Given the description of an element on the screen output the (x, y) to click on. 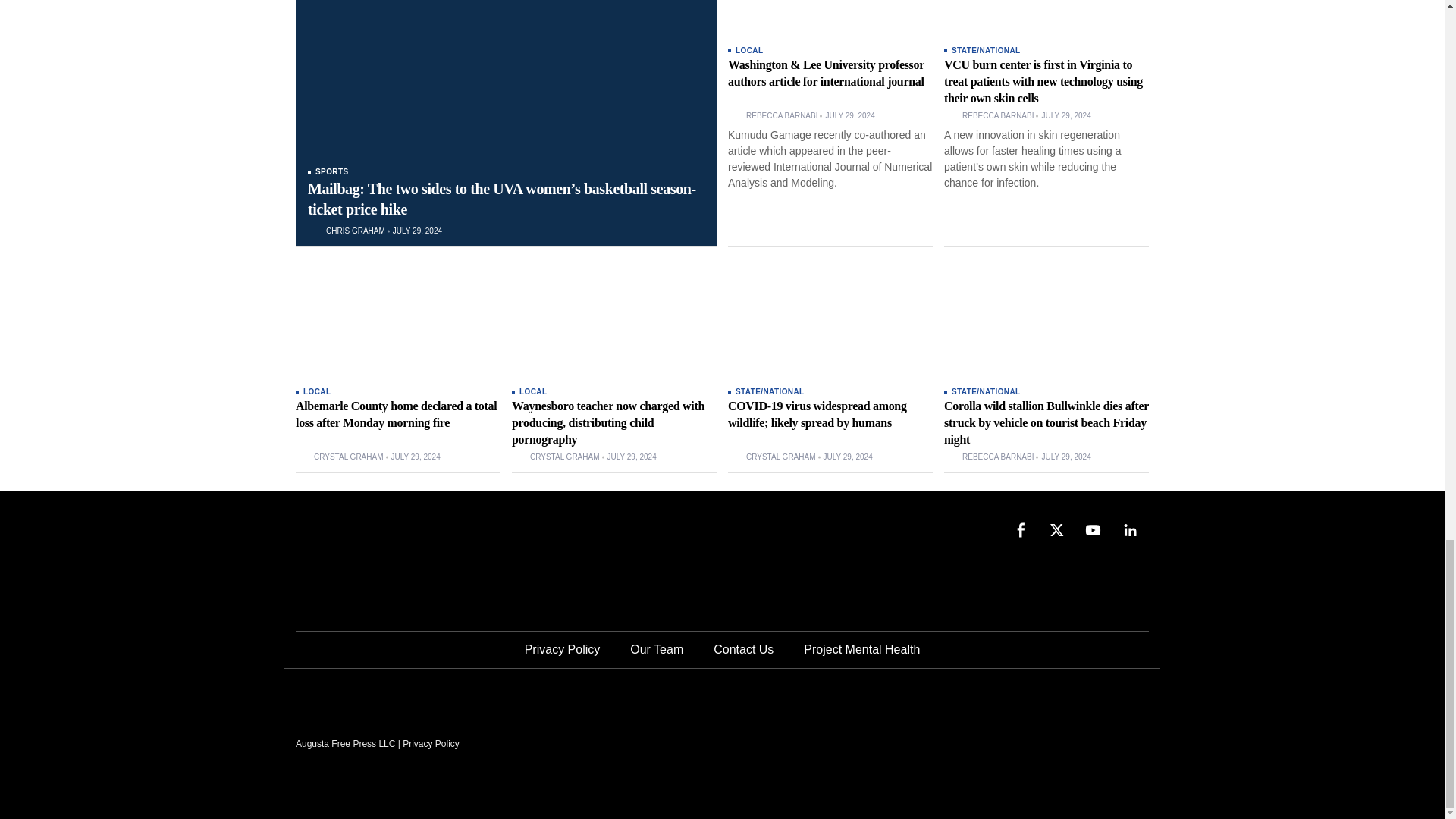
DMCA.com Protection Status (1034, 743)
